Given the description of an element on the screen output the (x, y) to click on. 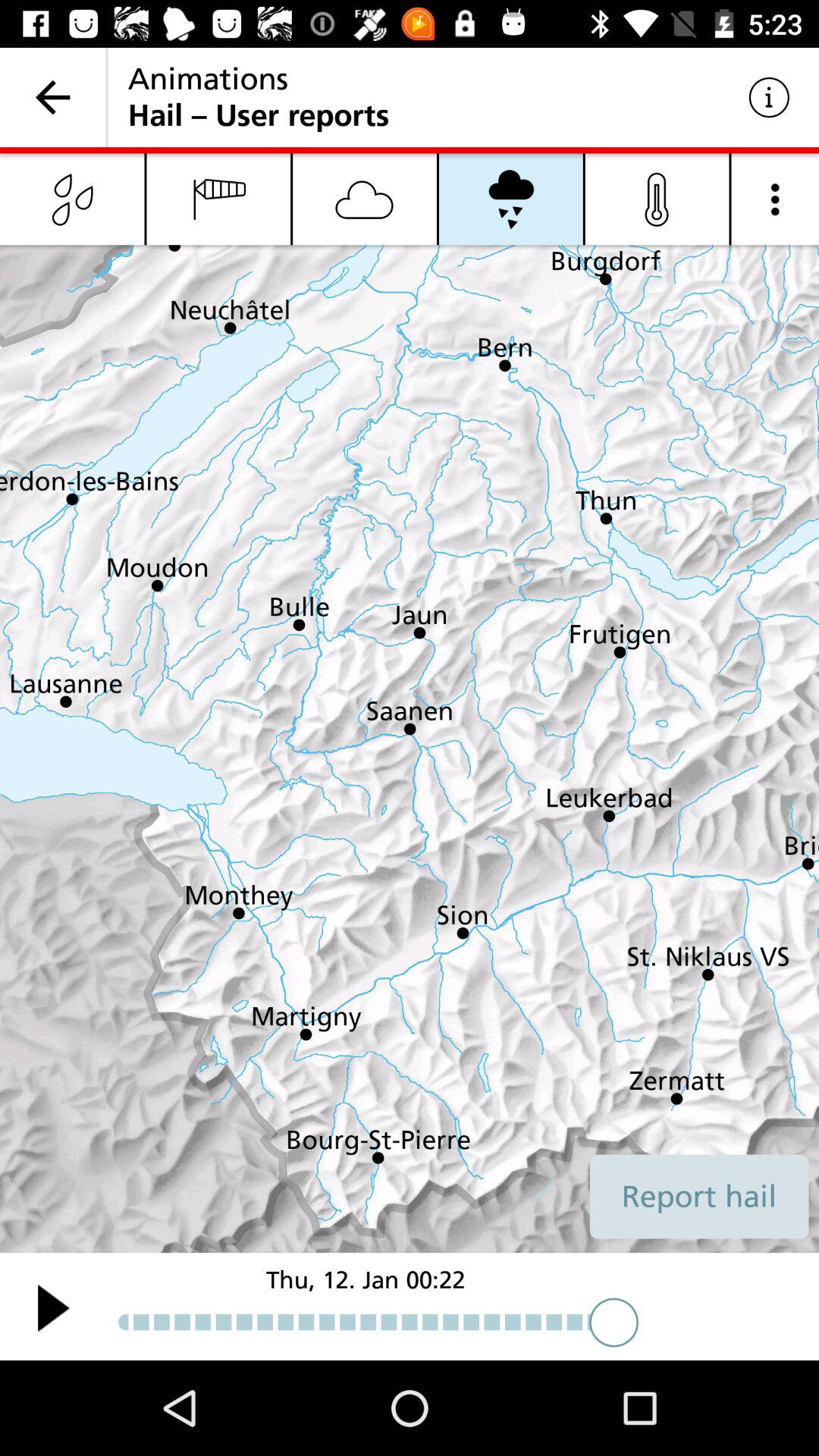
settings (775, 199)
